Given the description of an element on the screen output the (x, y) to click on. 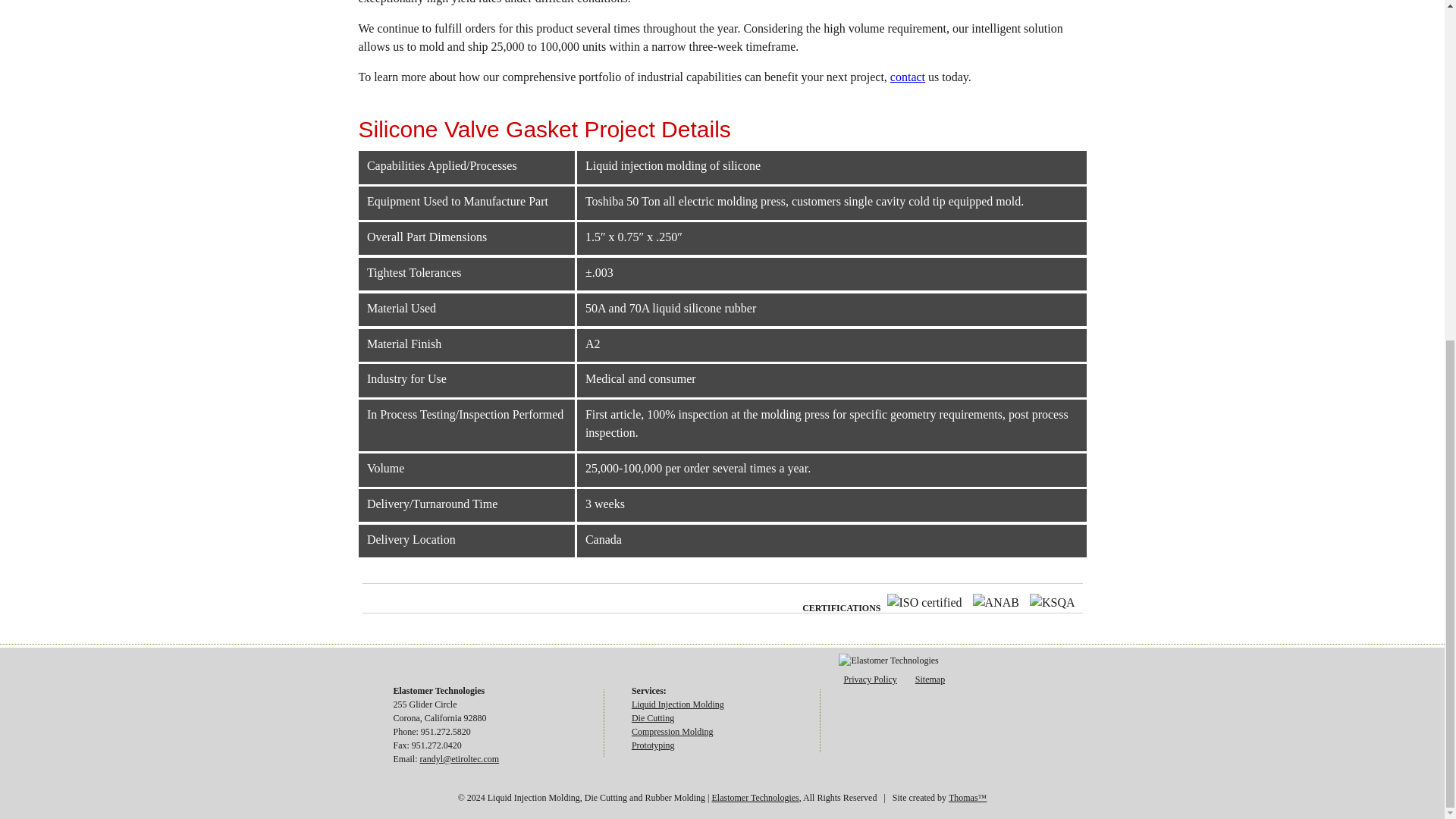
KSQA (1056, 602)
ISO certified (927, 602)
ANAB (999, 602)
